Given the description of an element on the screen output the (x, y) to click on. 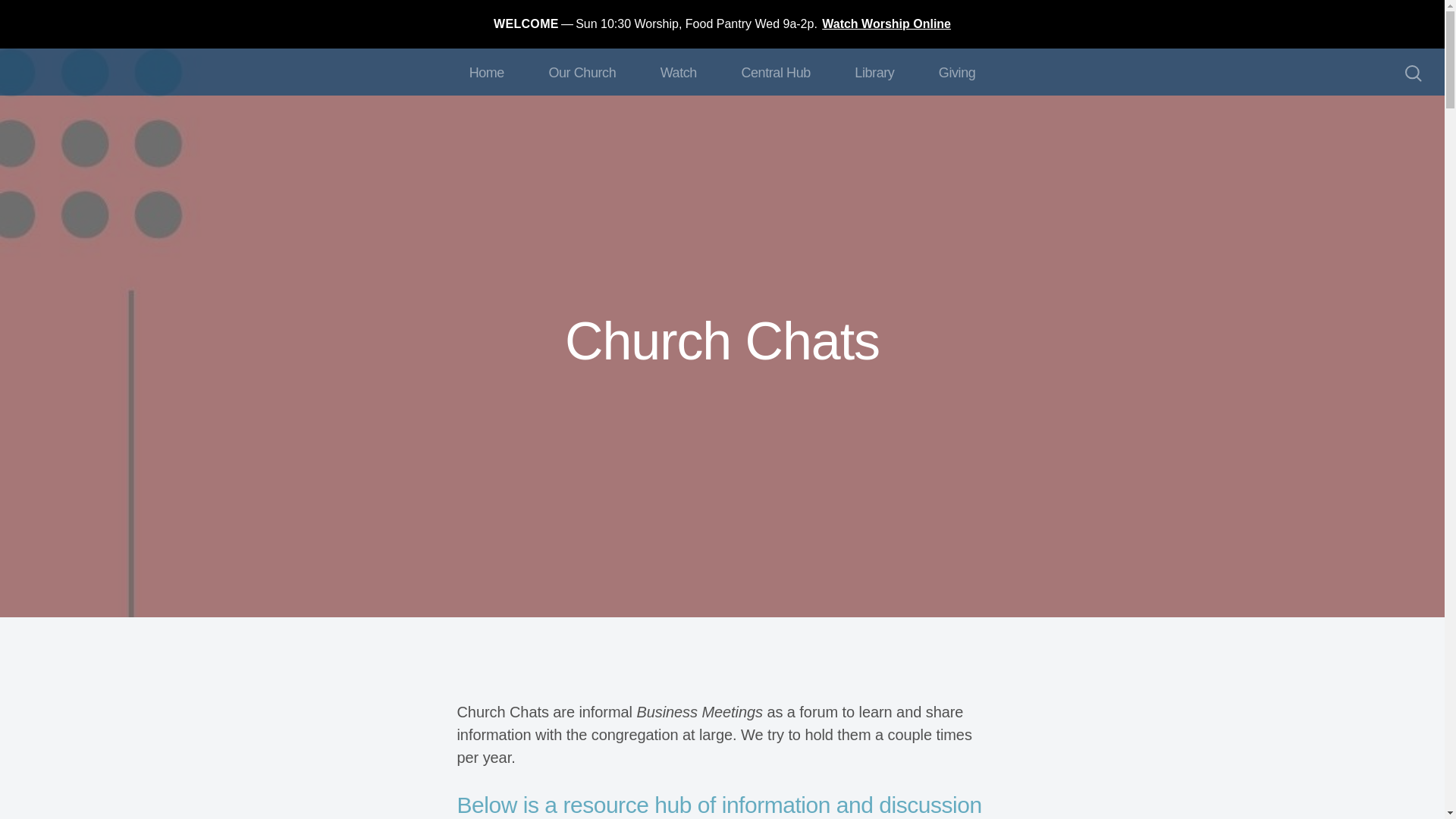
Central Hub (774, 71)
Library (874, 71)
Watch (678, 71)
Our Church (581, 71)
Home (486, 71)
Giving (956, 71)
